Given the description of an element on the screen output the (x, y) to click on. 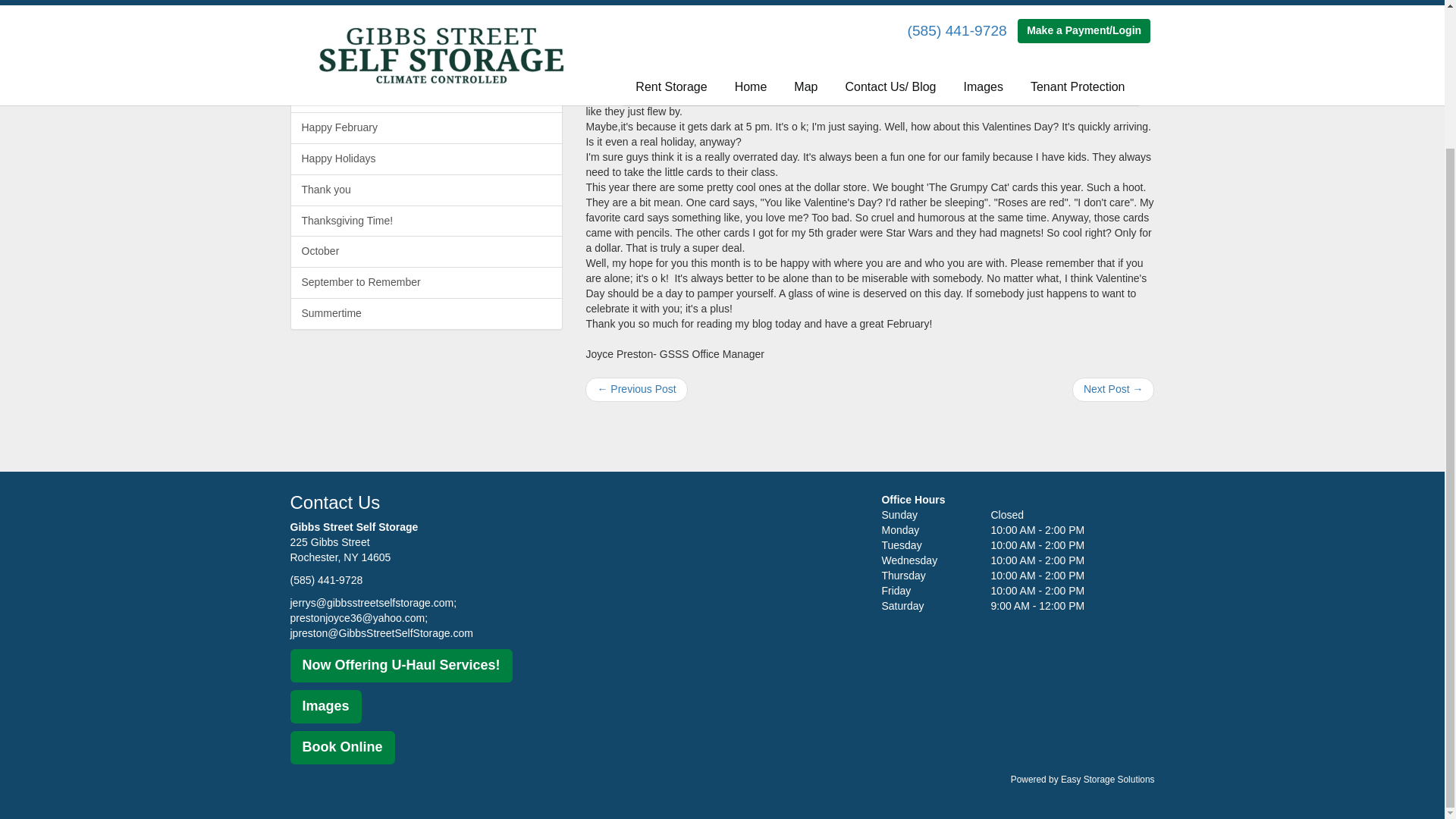
Summer (426, 65)
Tweet (601, 52)
Summertime (426, 313)
March (426, 97)
Thanksgiving Time! (426, 221)
Thank you (426, 190)
Thanksgiving is around the corner (426, 34)
RSS (601, 69)
Happy February (426, 128)
October (426, 251)
Happy Holidays (426, 159)
September to Remember (426, 282)
